Given the description of an element on the screen output the (x, y) to click on. 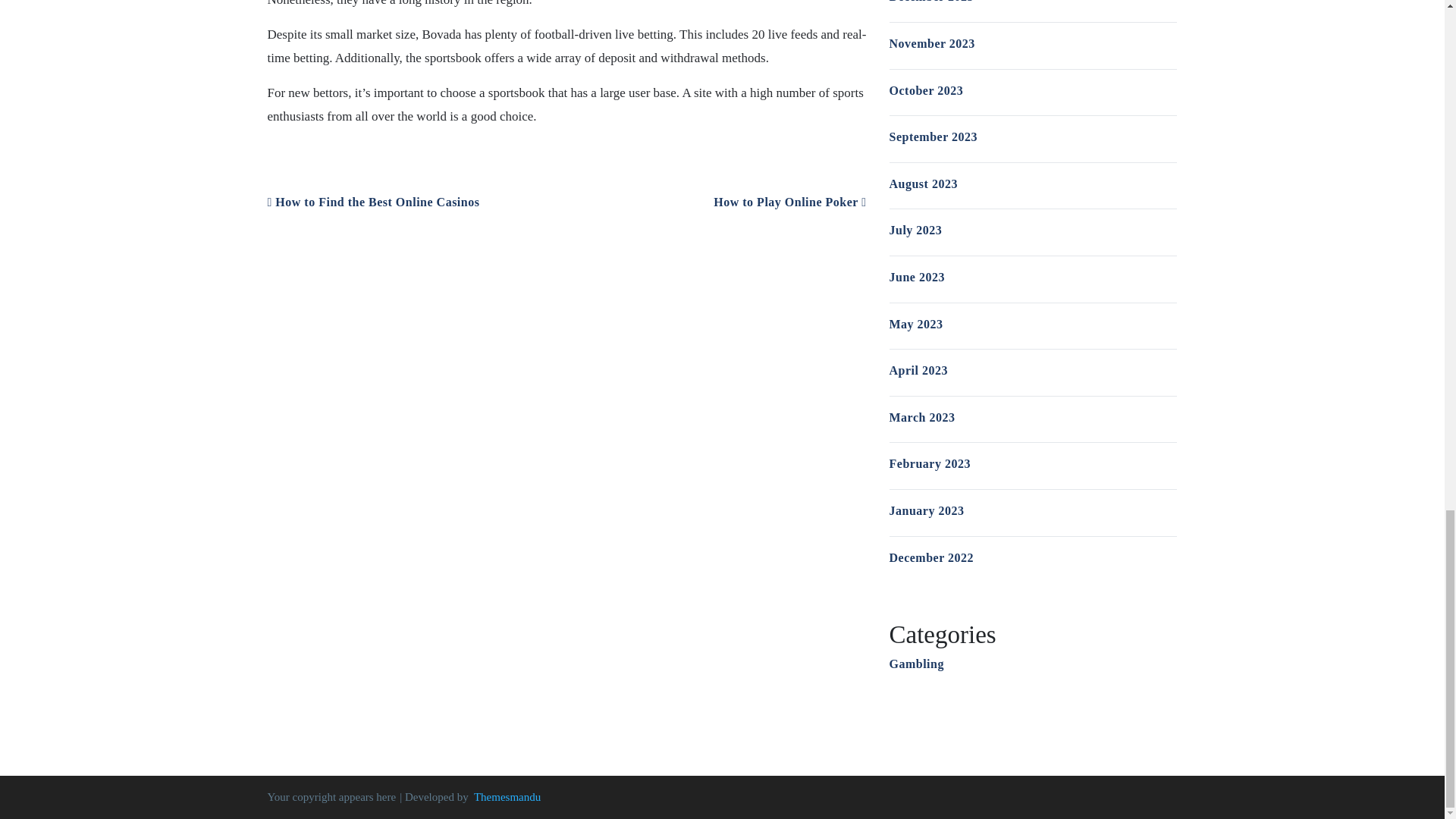
August 2023 (922, 183)
September 2023 (932, 136)
December 2023 (931, 1)
June 2023 (915, 277)
March 2023 (921, 417)
October 2023 (925, 90)
January 2023 (925, 510)
May 2023 (915, 323)
February 2023 (928, 463)
July 2023 (915, 229)
November 2023 (931, 42)
Gambling (915, 663)
December 2022 (931, 557)
How to Play Online Poker (789, 201)
Themesmandu (507, 797)
